Given the description of an element on the screen output the (x, y) to click on. 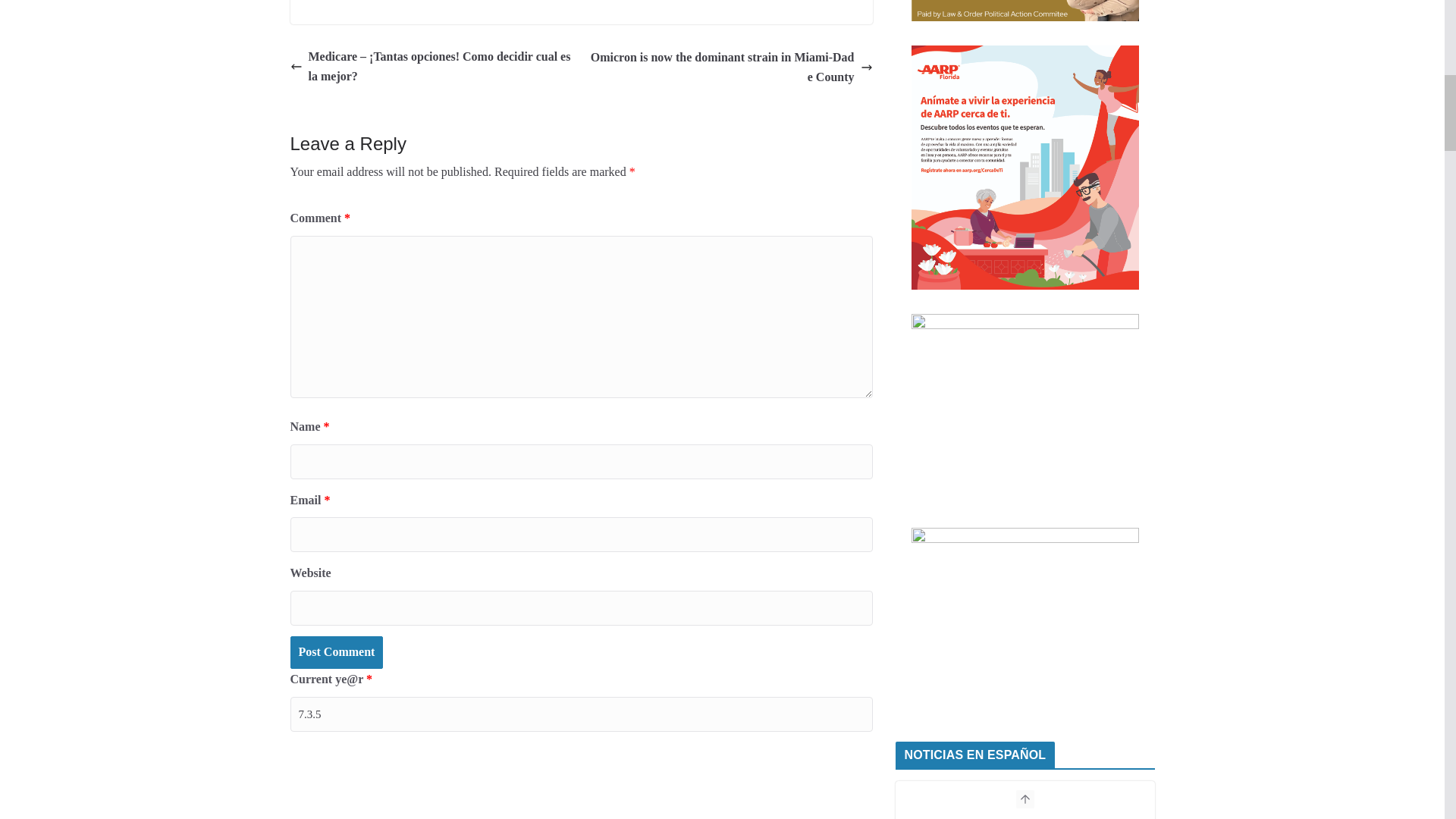
7.3.5 (580, 714)
Post Comment (335, 652)
